Given the description of an element on the screen output the (x, y) to click on. 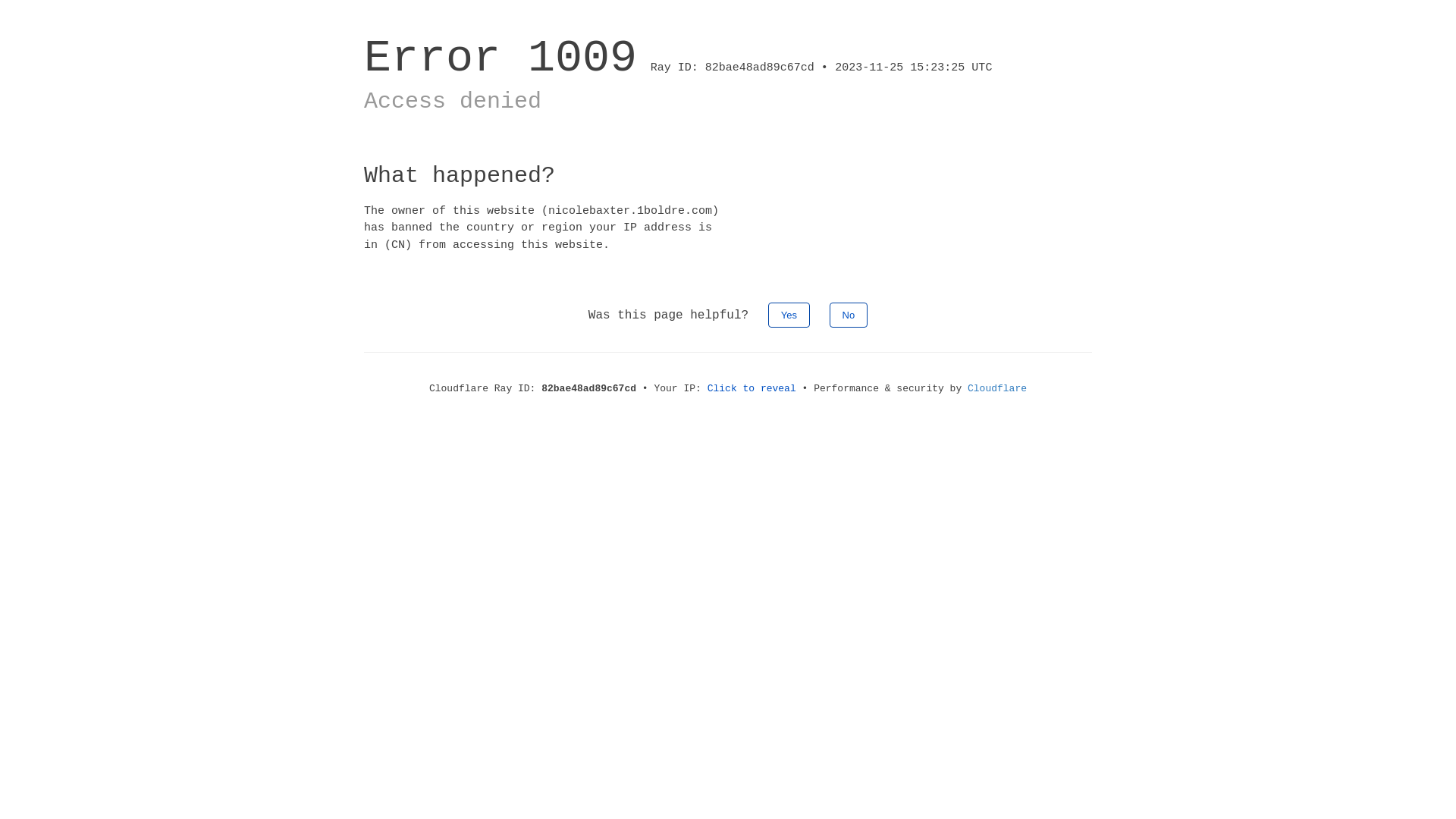
Click to reveal Element type: text (751, 388)
Yes Element type: text (788, 314)
No Element type: text (848, 314)
Cloudflare Element type: text (996, 388)
